Given the description of an element on the screen output the (x, y) to click on. 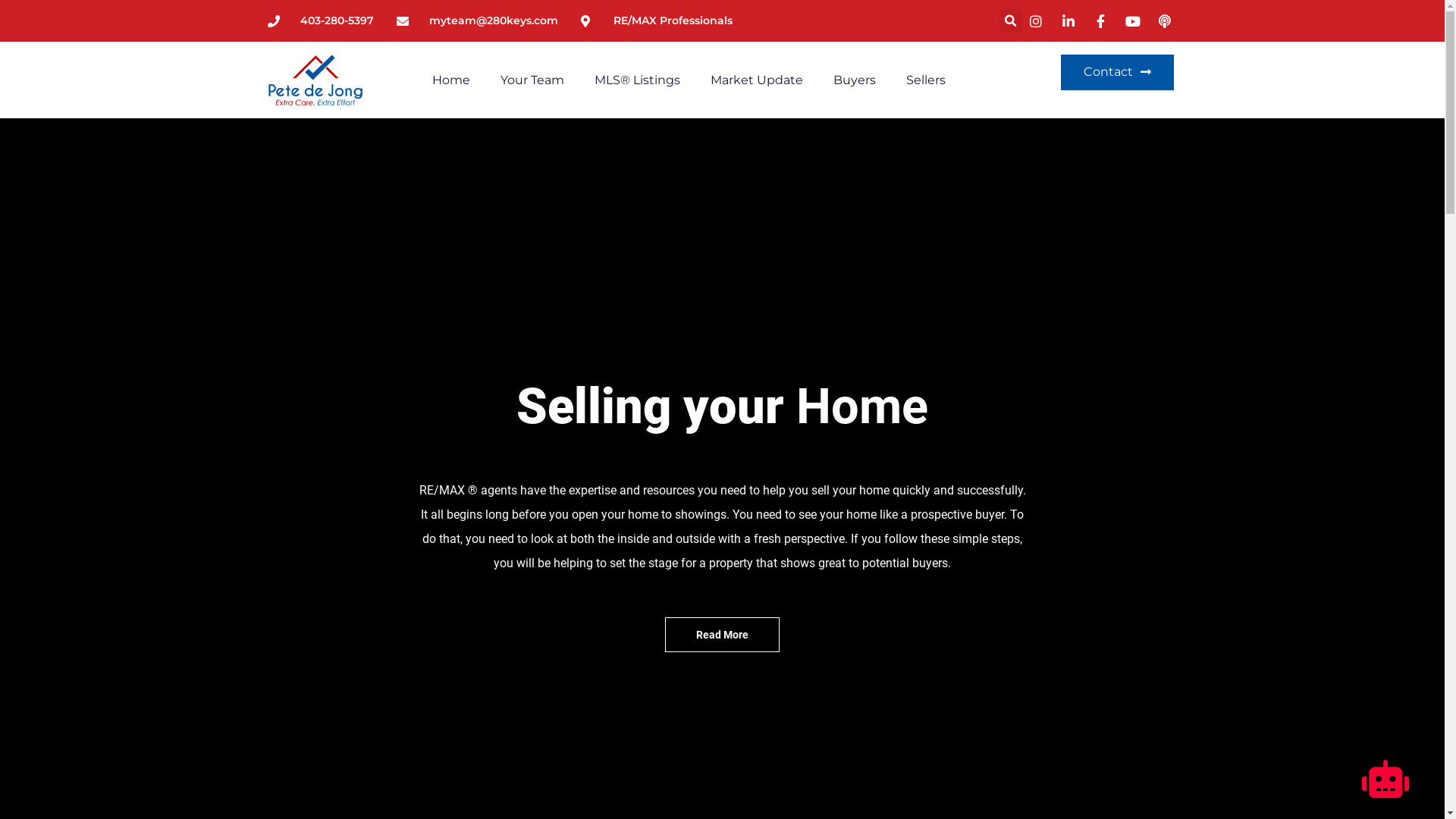
Contact Element type: text (1116, 72)
Read More Element type: text (722, 634)
Buyers Element type: text (854, 79)
403-280-5397 Element type: text (319, 20)
Home Element type: text (451, 79)
Sellers Element type: text (925, 79)
Market Update Element type: text (756, 79)
myteam@280keys.com Element type: text (476, 20)
Your Team Element type: text (532, 79)
